Given the description of an element on the screen output the (x, y) to click on. 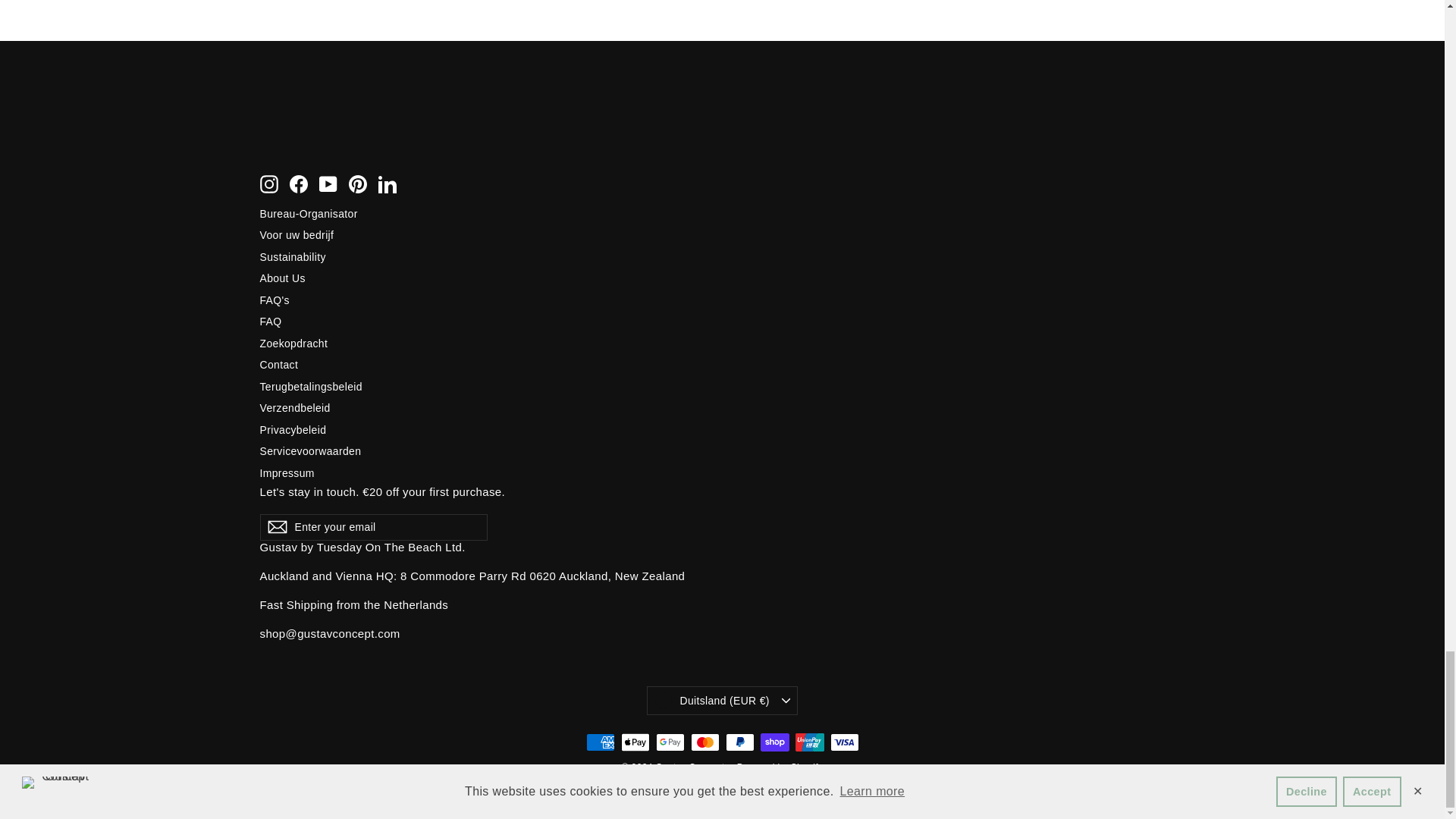
Gustav Concept on Pinterest (357, 184)
Gustav Concept on Instagram (268, 184)
Mastercard (704, 742)
icon-email (276, 527)
PayPal (739, 742)
Shop Pay (774, 742)
Google Pay (669, 742)
Gustav Concept on Facebook (298, 184)
American Express (599, 742)
Gustav Concept on LinkedIn (386, 184)
Gustav Concept on YouTube (327, 184)
Apple Pay (634, 742)
instagram (268, 184)
